Given the description of an element on the screen output the (x, y) to click on. 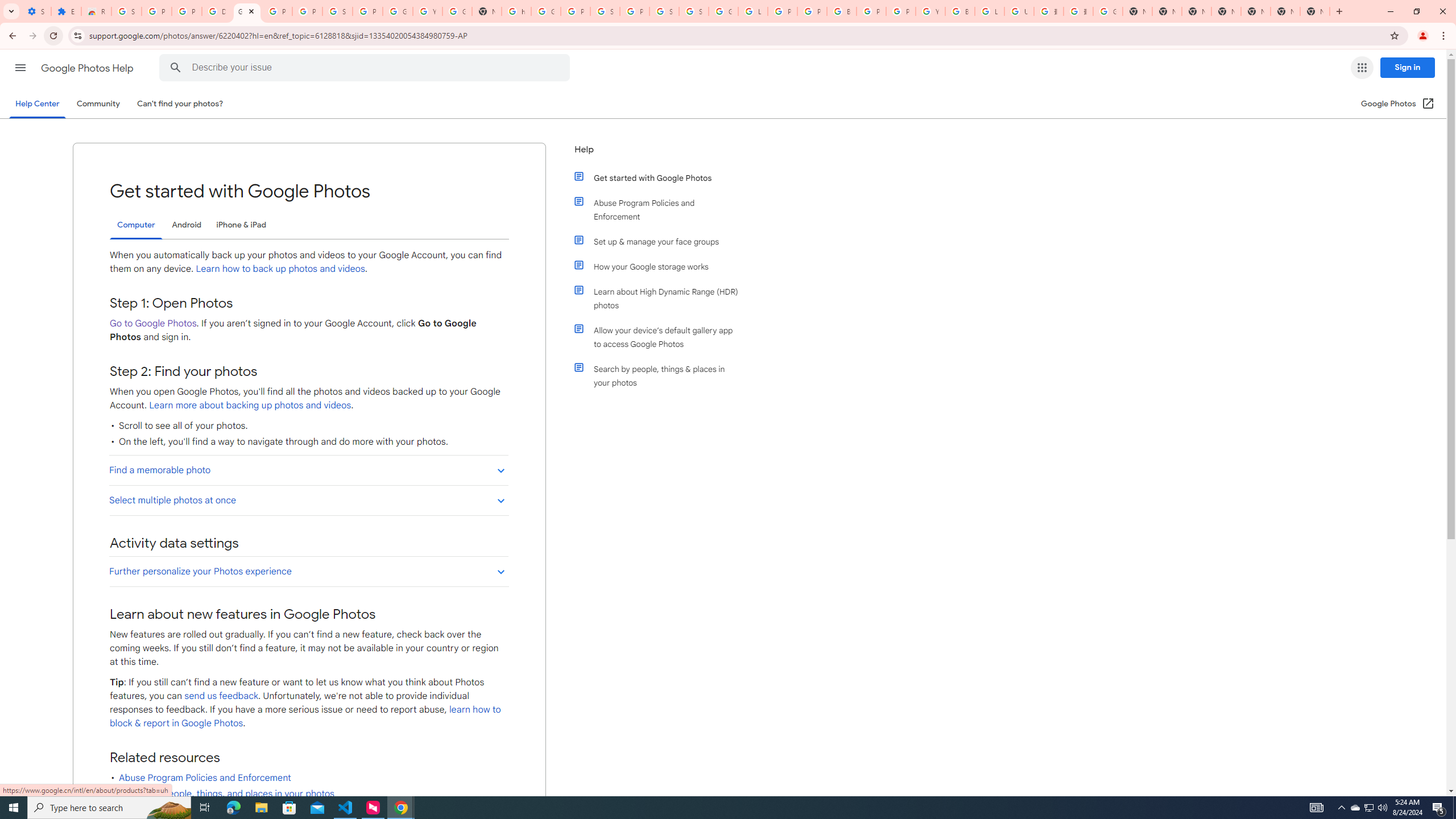
Describe your issue (366, 67)
Android (186, 224)
Learn how to back up photos and videos (280, 268)
Sign in - Google Accounts (604, 11)
View site information (77, 35)
Further personalize your Photos experience (308, 571)
New Tab (1226, 11)
